Given the description of an element on the screen output the (x, y) to click on. 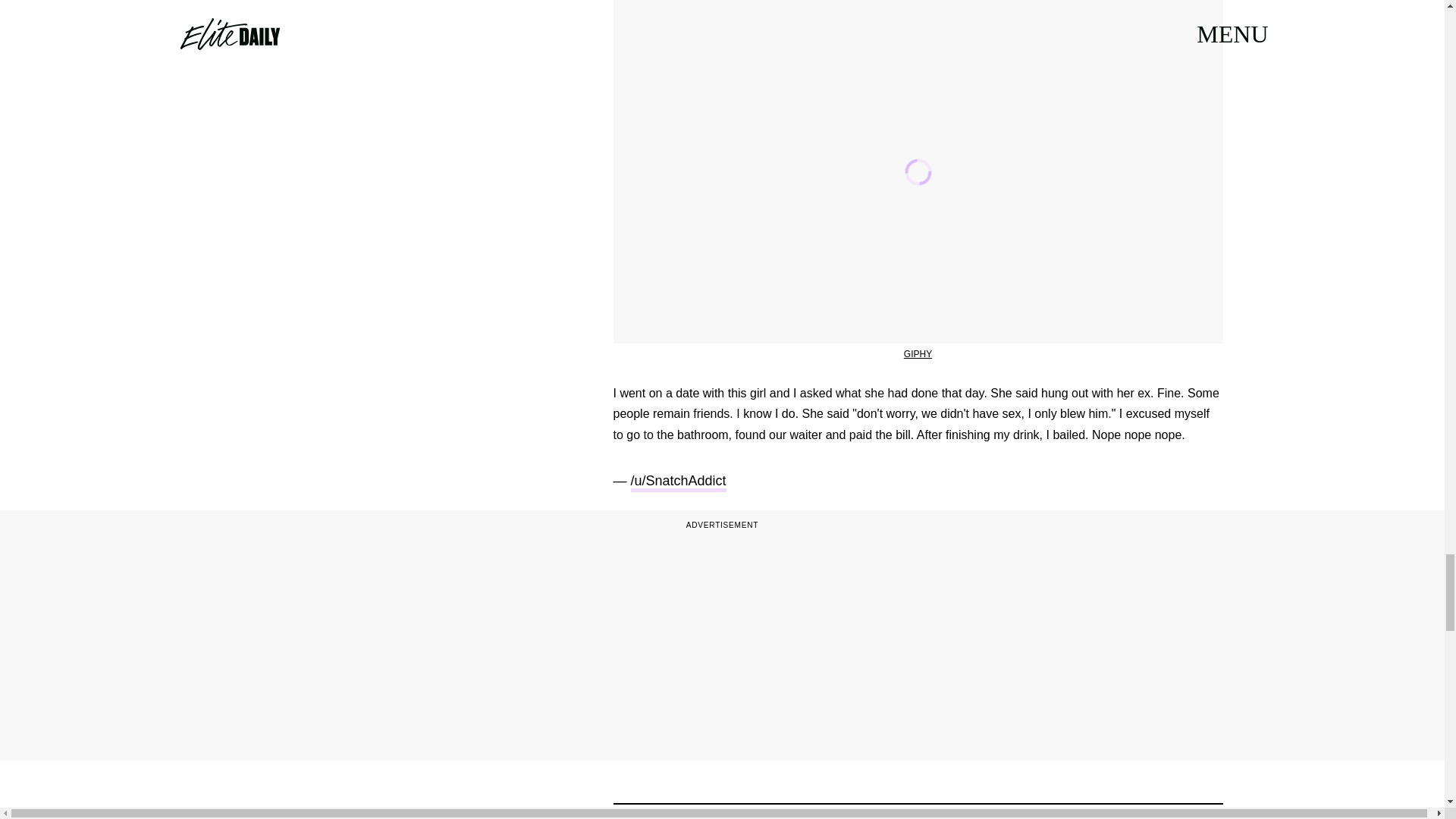
GIPHY (917, 353)
